Given the description of an element on the screen output the (x, y) to click on. 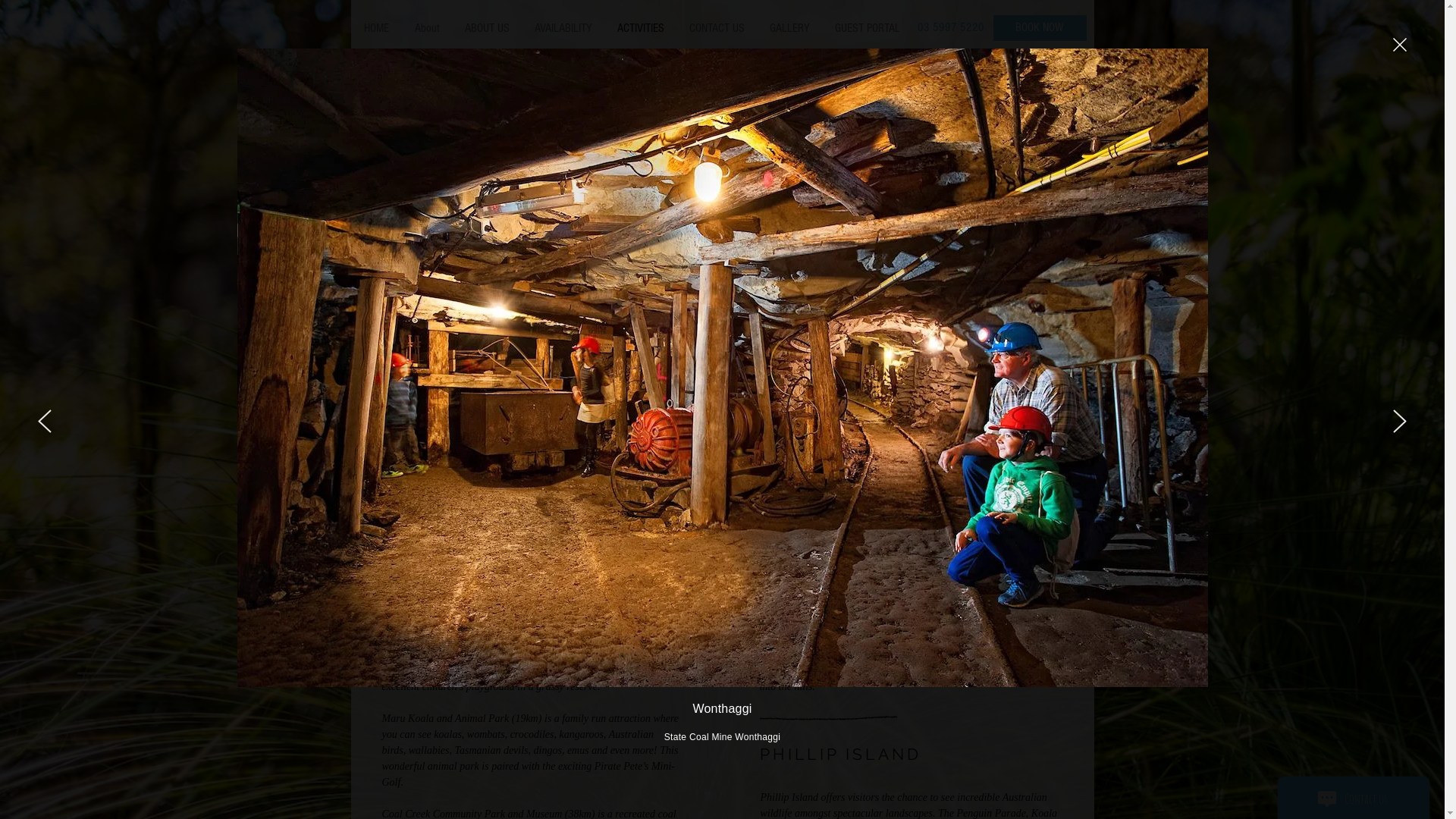
HOME Element type: text (376, 27)
GUEST PORTAL Element type: text (867, 27)
GALLERY Element type: text (789, 27)
BOOK NOW Element type: text (1039, 27)
ACTIVITIES Element type: text (639, 27)
About Element type: text (426, 27)
ABOUT US Element type: text (486, 27)
AVAILABILITY Element type: text (562, 27)
CONTACT US Element type: text (716, 27)
